Given the description of an element on the screen output the (x, y) to click on. 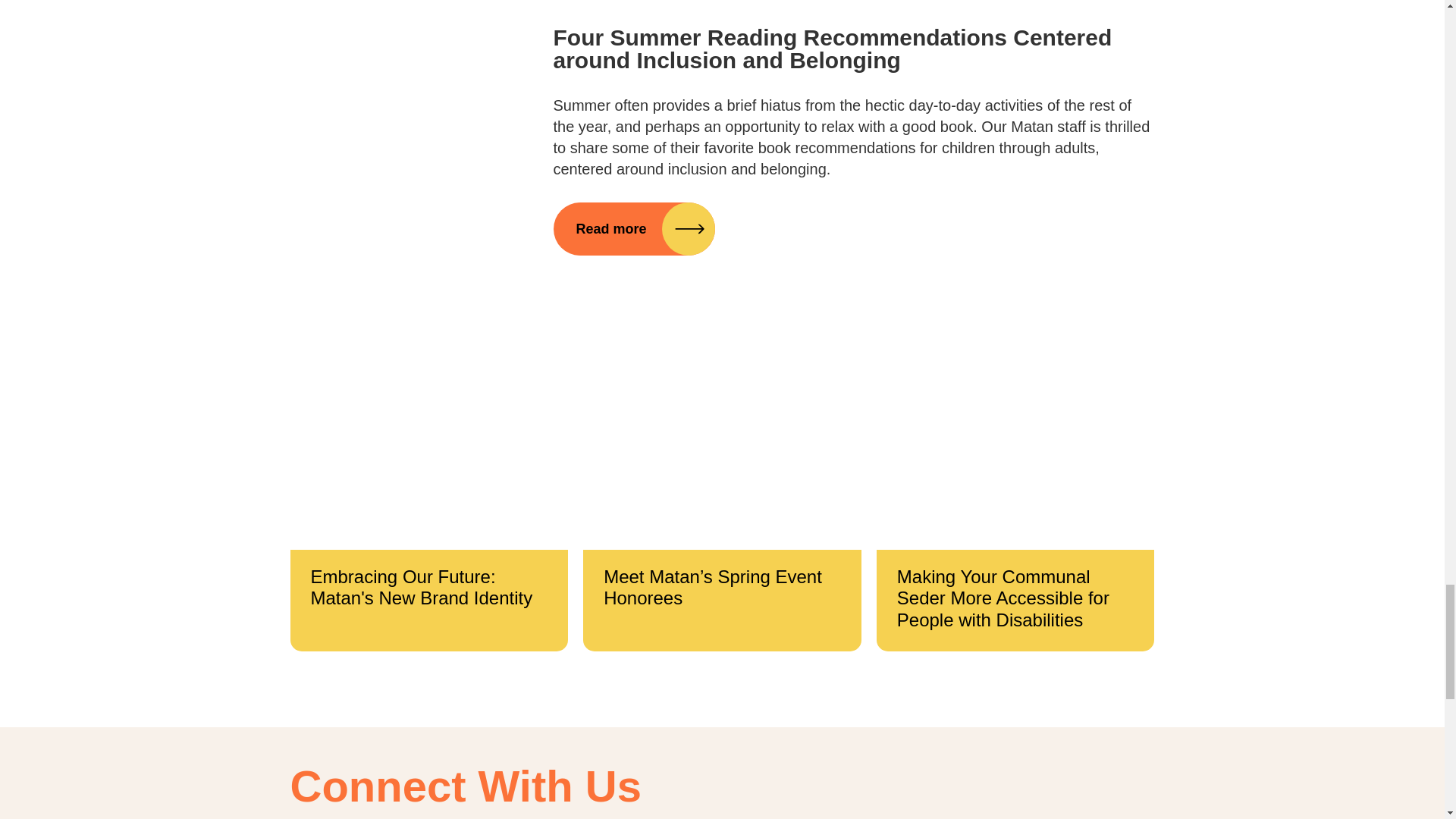
Read more (633, 228)
